Given the description of an element on the screen output the (x, y) to click on. 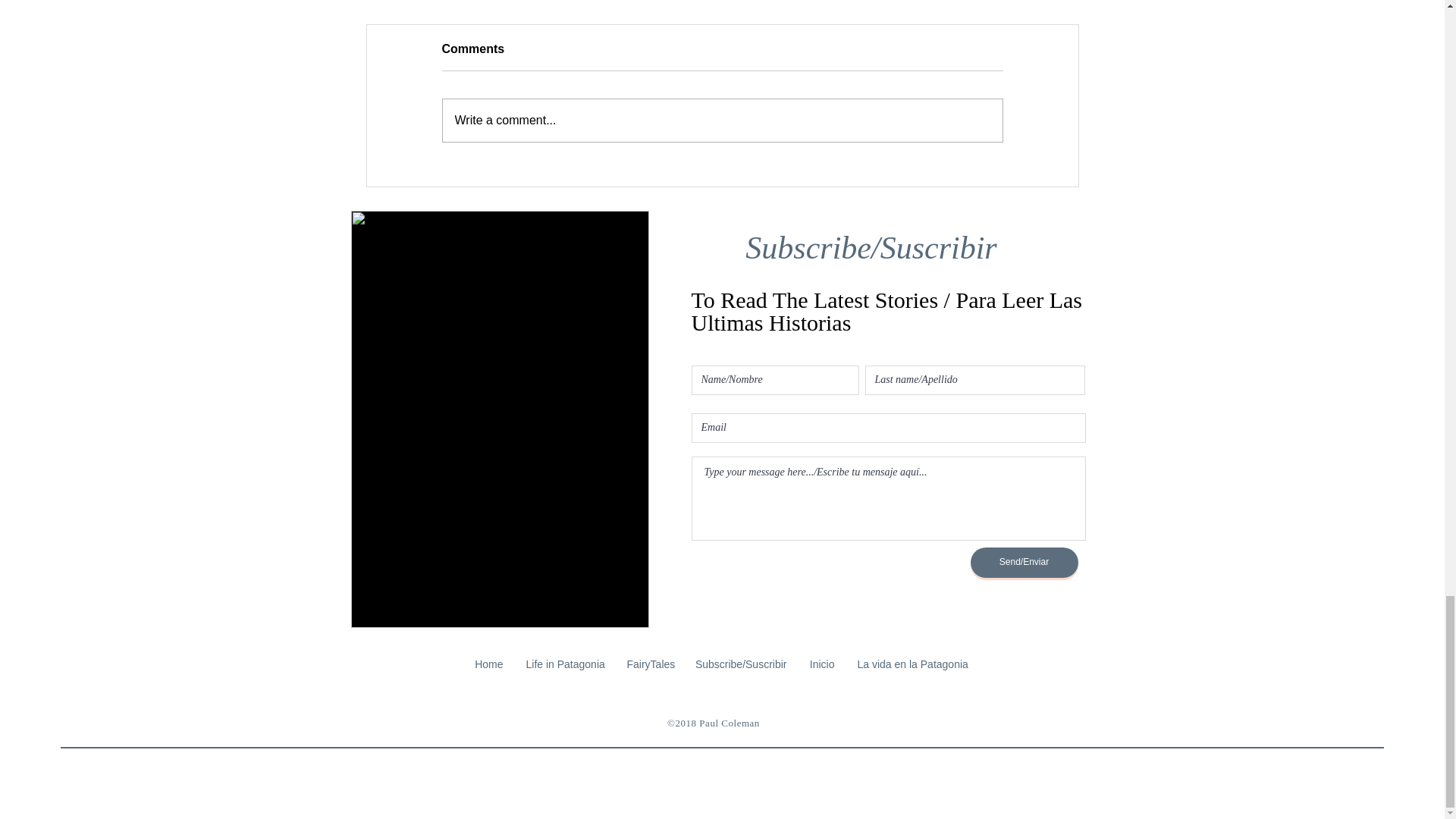
Write a comment... (722, 120)
Life in Patagonia (563, 664)
La vida en la Patagonia (910, 664)
Home (488, 664)
FairyTales (648, 664)
Inicio (821, 664)
